Given the description of an element on the screen output the (x, y) to click on. 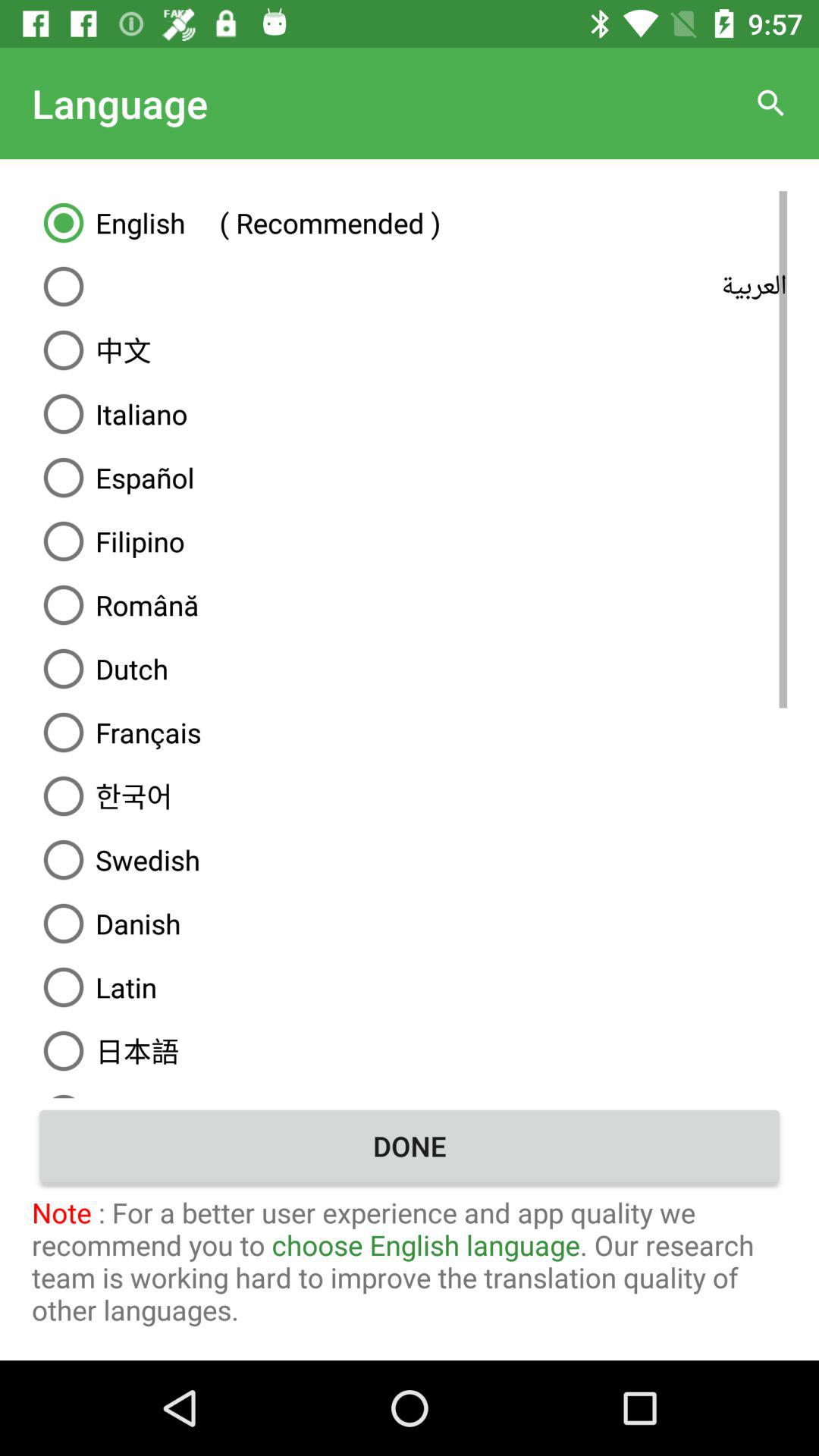
press the italiano (409, 413)
